Given the description of an element on the screen output the (x, y) to click on. 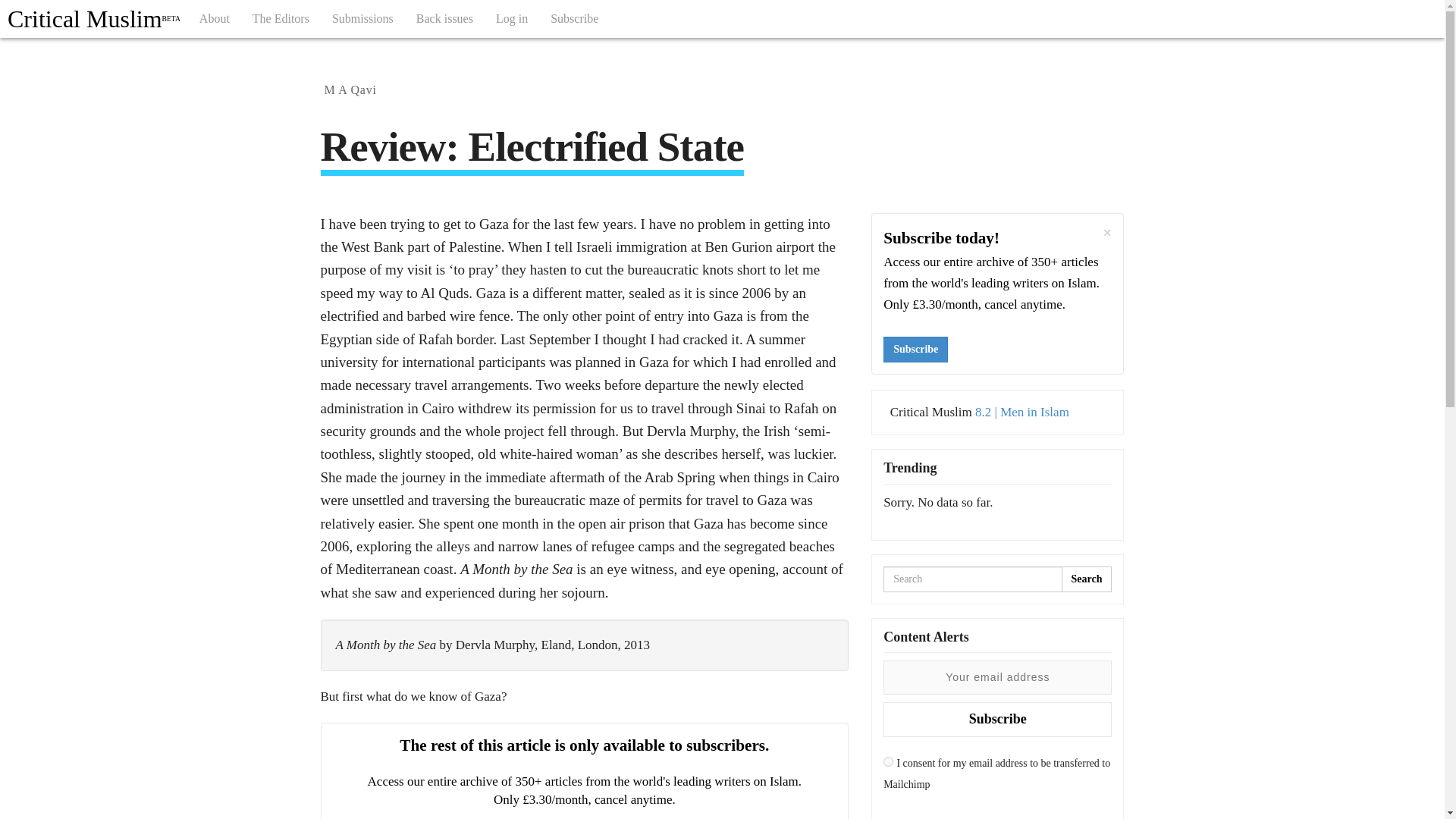
M A Qavi (350, 89)
Submissions (362, 18)
The Editors (280, 18)
Critical MuslimBETA (93, 18)
About (214, 18)
Posts by M A Qavi (350, 89)
Log in (511, 18)
Back issues (444, 18)
Subscribe (574, 18)
